Given the description of an element on the screen output the (x, y) to click on. 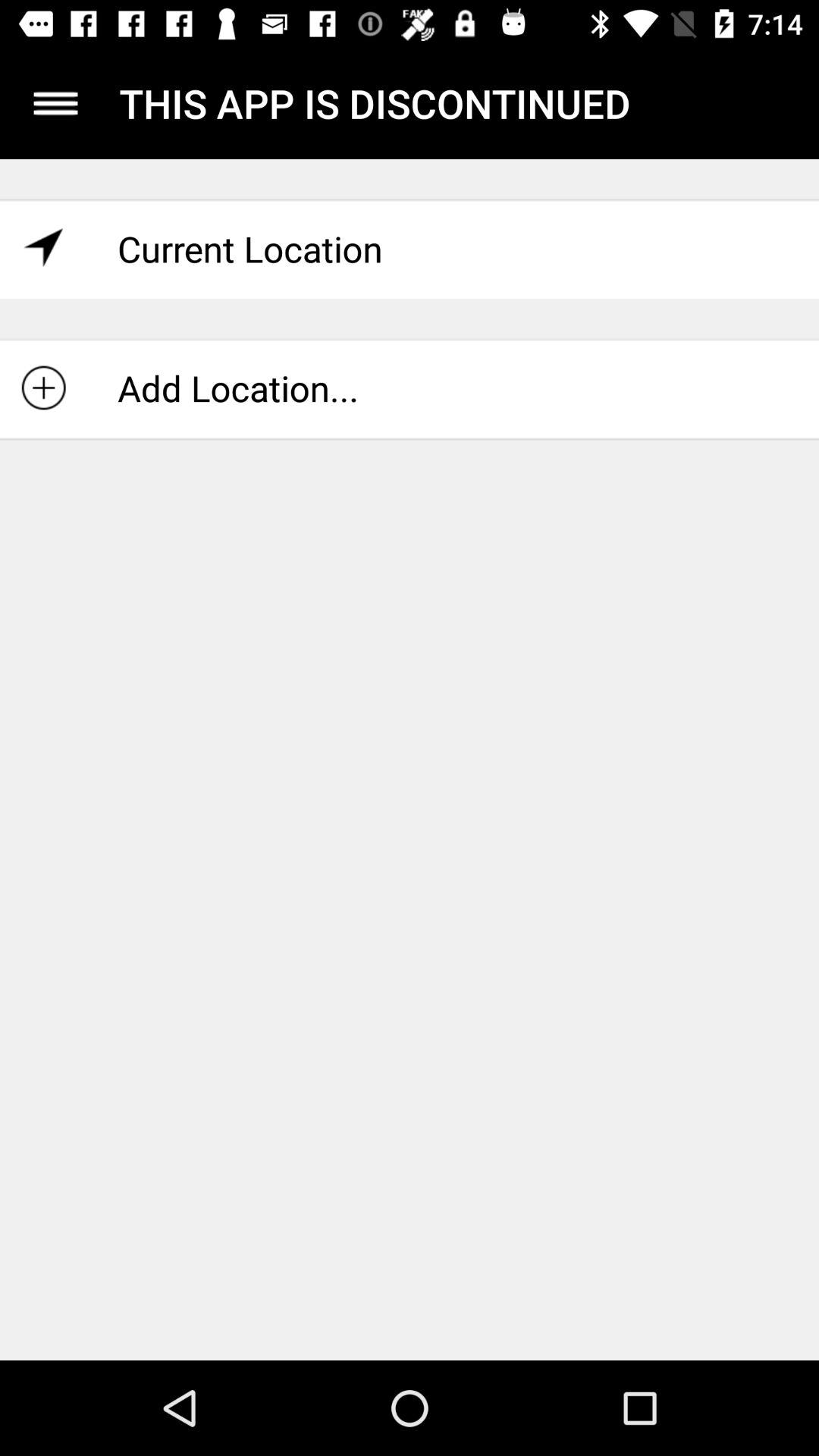
menu button (55, 103)
